Given the description of an element on the screen output the (x, y) to click on. 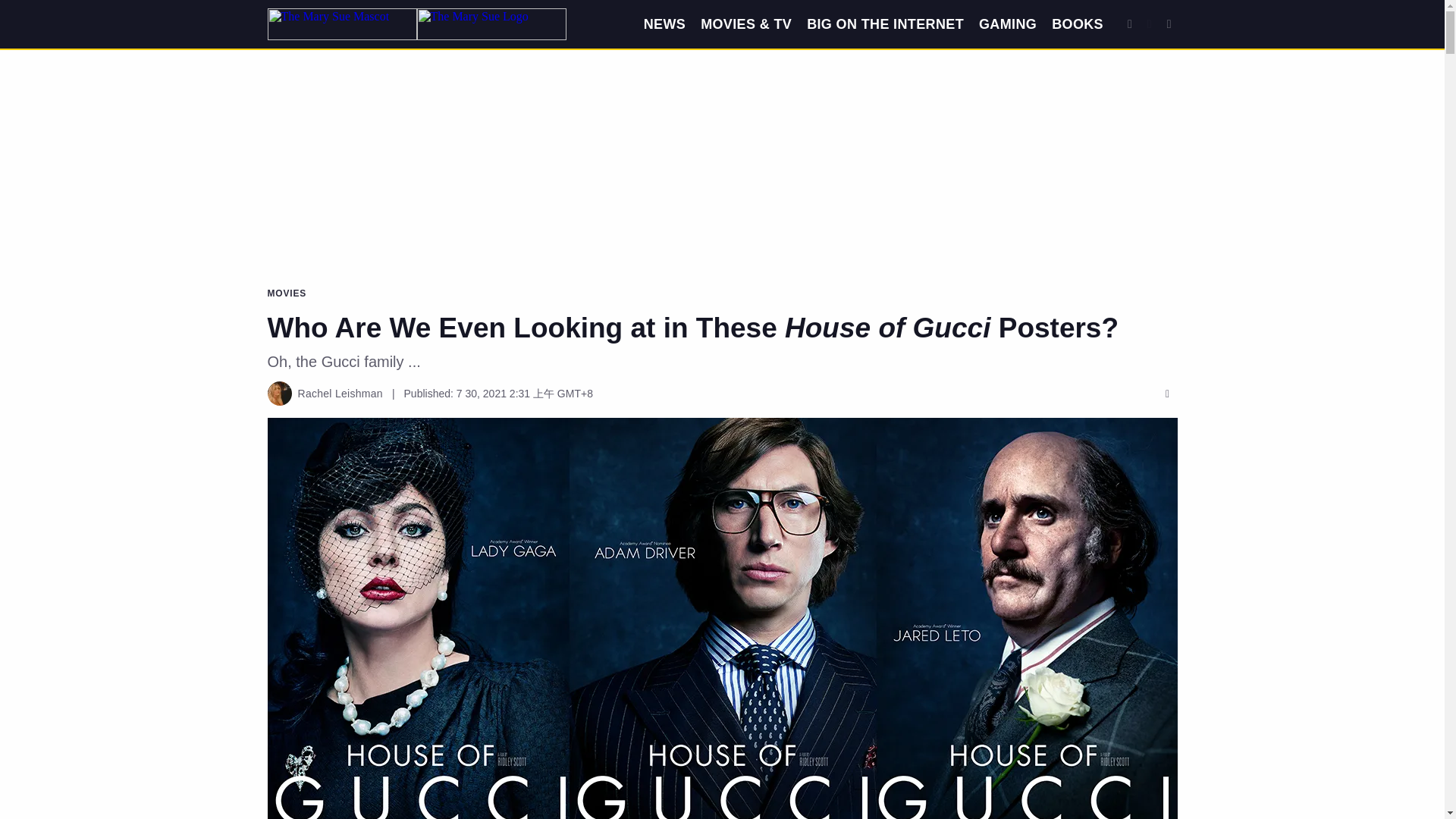
BIG ON THE INTERNET (884, 23)
Expand Menu (1168, 23)
BOOKS (1077, 23)
Search (1129, 23)
GAMING (1007, 23)
Dark Mode (1149, 23)
NEWS (664, 23)
